Given the description of an element on the screen output the (x, y) to click on. 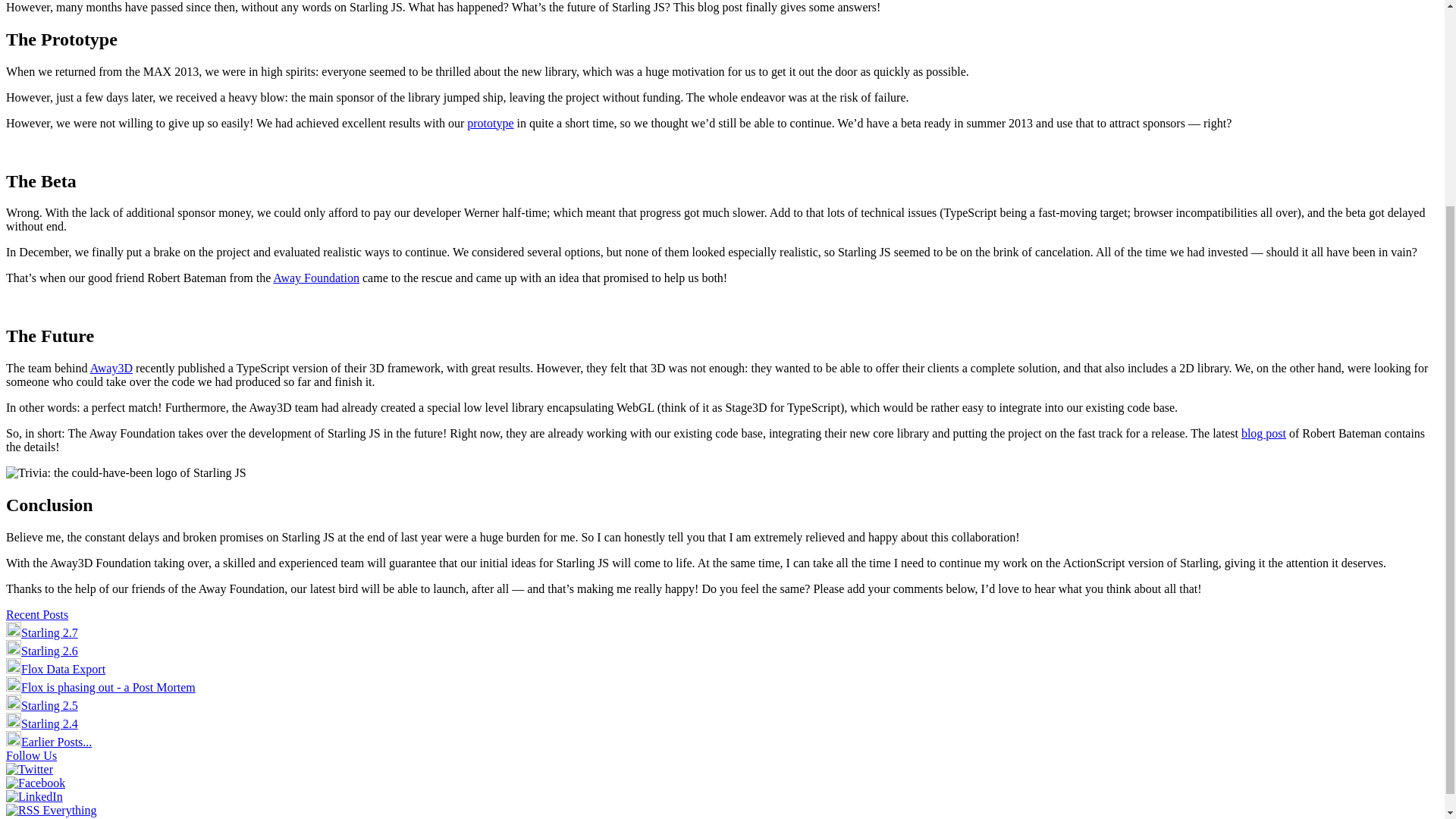
Flox is phasing out - a Post Mortem (100, 686)
Follow Us On Twitter (28, 769)
Starling 2.5 (41, 705)
Starling 2.6 (41, 650)
Flox Data Export (54, 668)
Away3D (111, 367)
Starling 2.4 (41, 723)
Subscribe To The RSS Feed (51, 810)
Follow Us On Facebook (35, 783)
Away Foundation (316, 277)
